Given the description of an element on the screen output the (x, y) to click on. 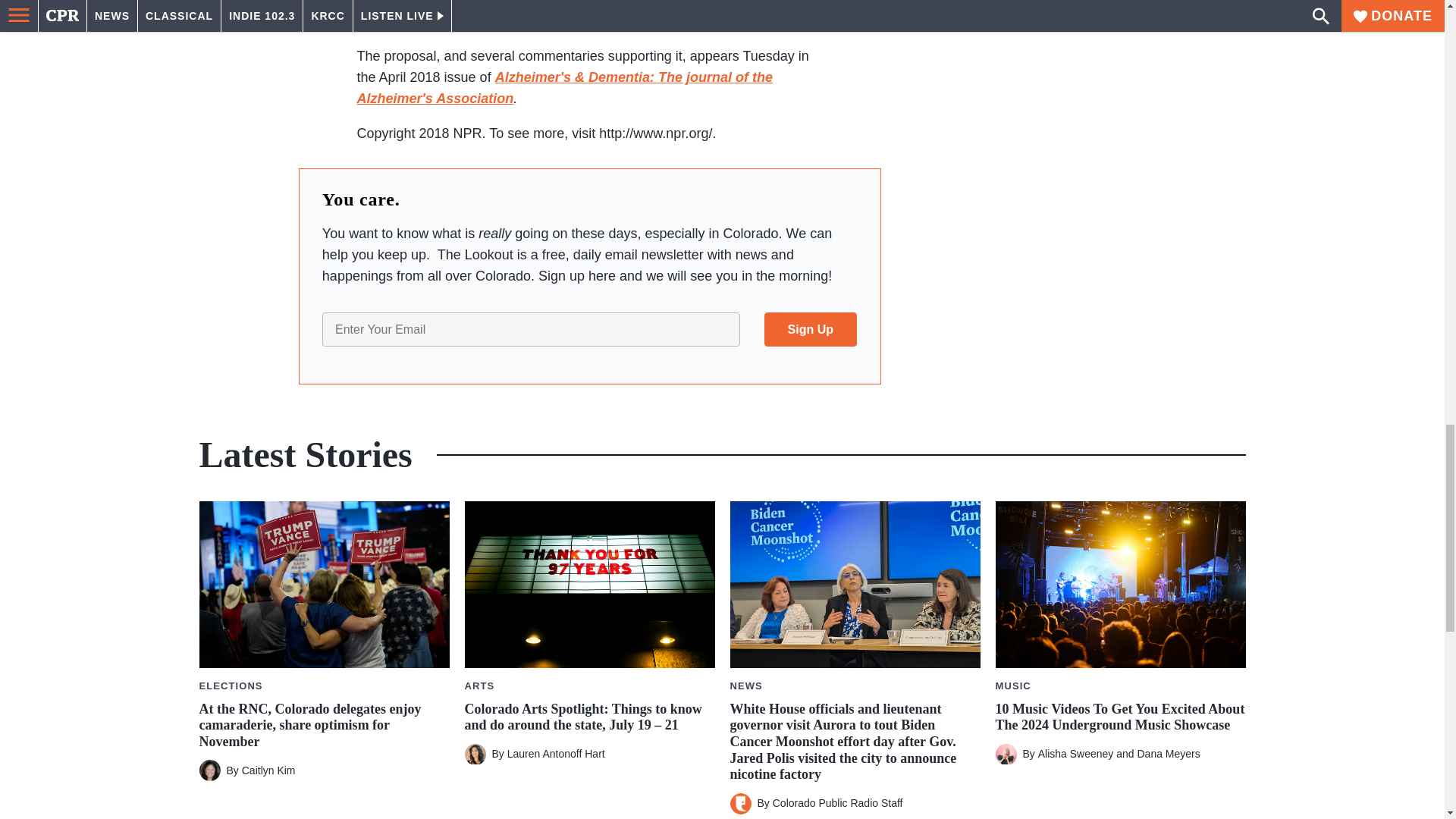
newsArticleSignup (589, 328)
